Given the description of an element on the screen output the (x, y) to click on. 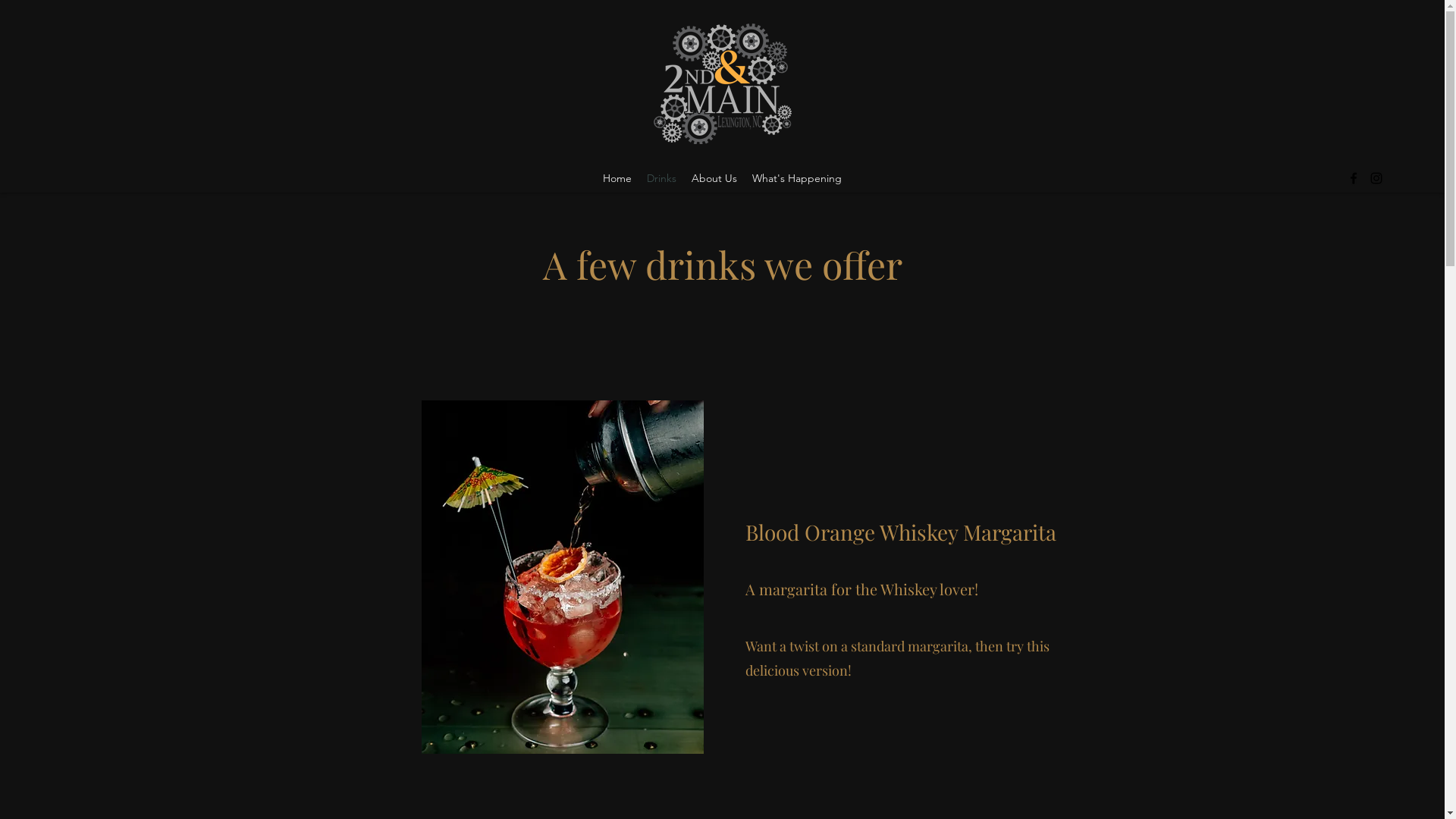
Drinks Element type: text (661, 177)
What's Happening Element type: text (796, 177)
Home Element type: text (617, 177)
About Us Element type: text (714, 177)
